Given the description of an element on the screen output the (x, y) to click on. 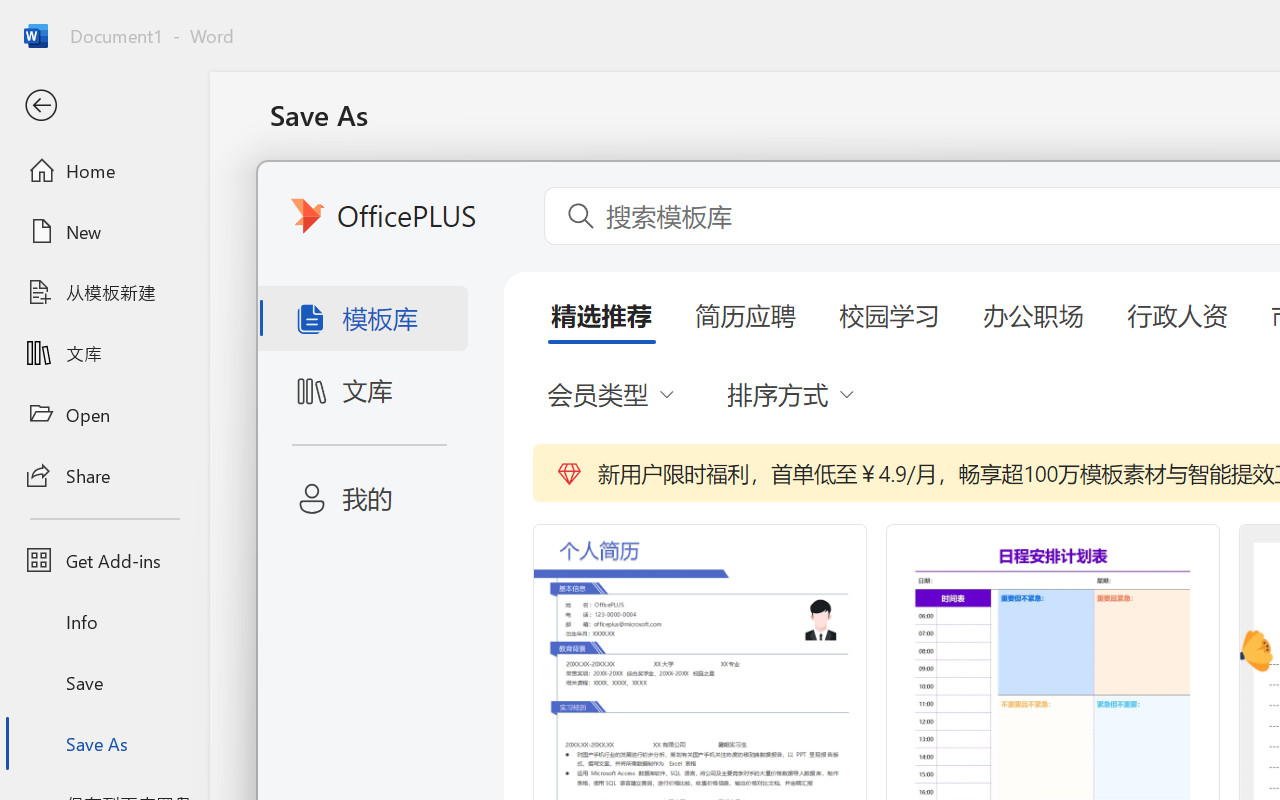
Save As (104, 743)
Back (104, 106)
